Given the description of an element on the screen output the (x, y) to click on. 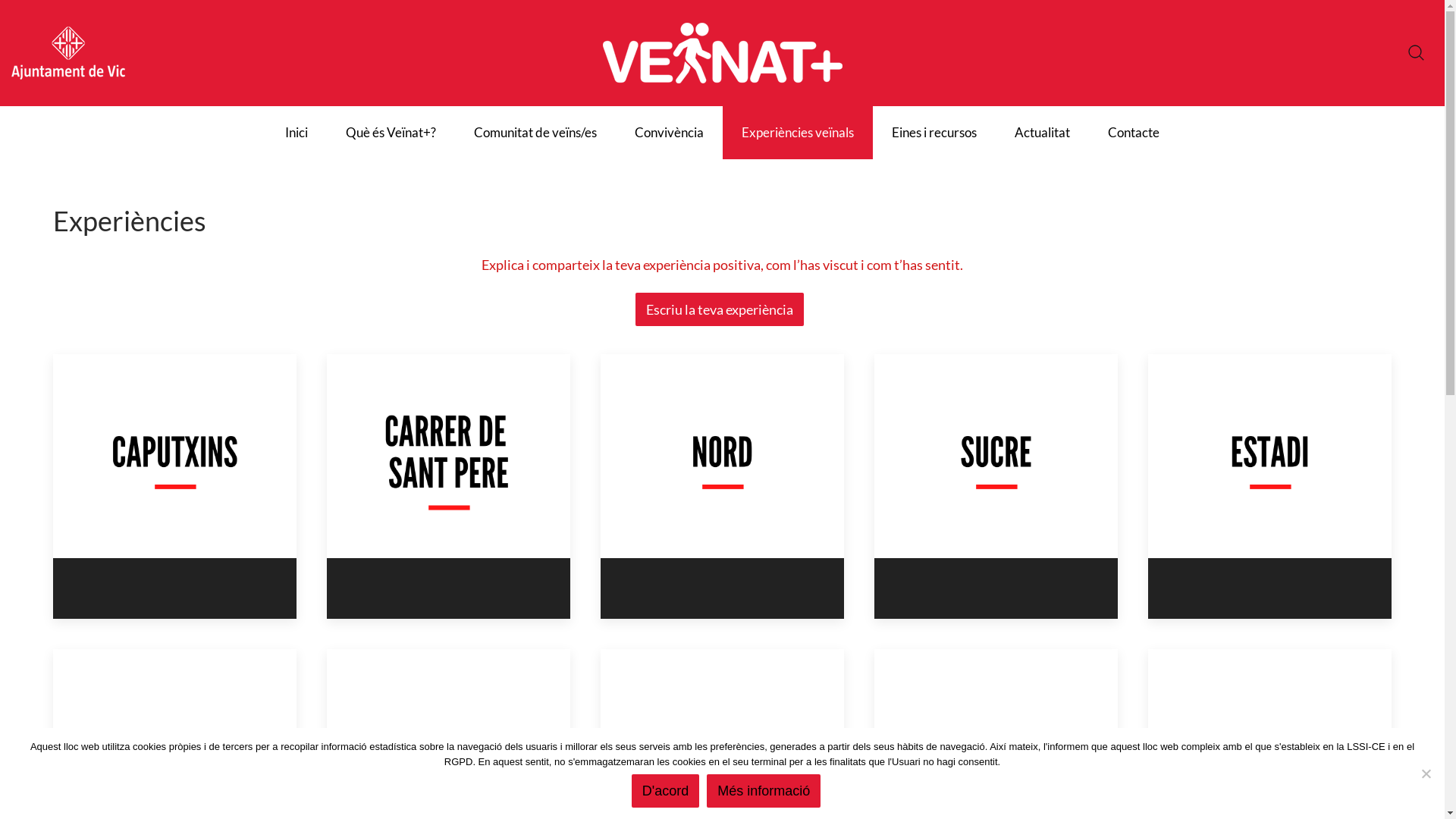
Eines i recursos Element type: text (933, 132)
Estadi Element type: hover (1269, 486)
D'acord Element type: text (665, 790)
Contacte Element type: text (1133, 132)
Actualitat Element type: text (1041, 132)
Carrer St. Pere Element type: hover (448, 486)
Sucre Element type: hover (995, 486)
Inici Element type: text (296, 132)
Nord Element type: hover (722, 486)
Caputxins Element type: hover (174, 486)
